Given the description of an element on the screen output the (x, y) to click on. 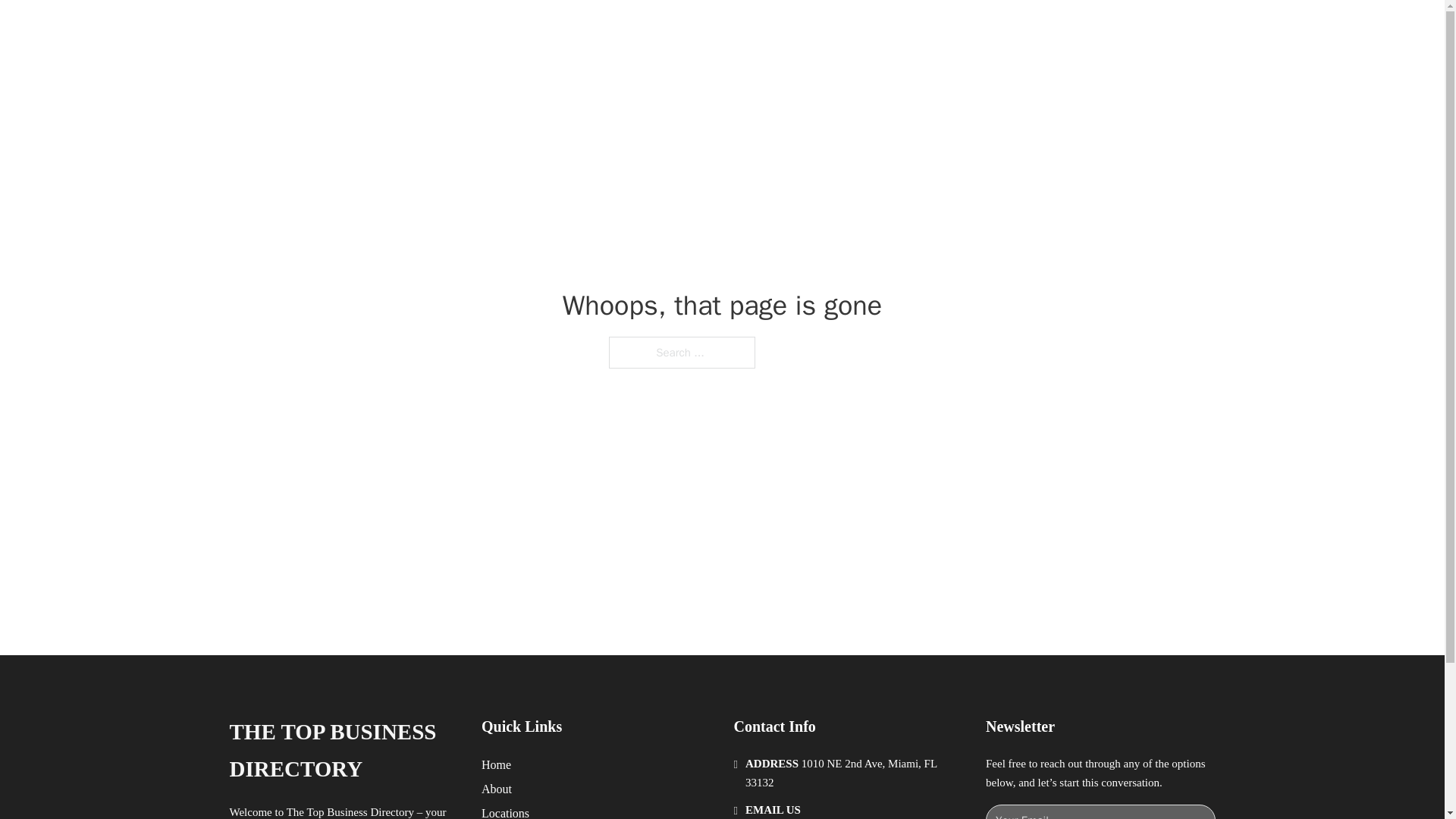
HOME (919, 29)
THE TOP BUSINESS DIRECTORY (463, 28)
THE TOP BUSINESS DIRECTORY (343, 750)
LOCATIONS (990, 29)
About (496, 788)
Home (496, 764)
Locations (505, 811)
